Given the description of an element on the screen output the (x, y) to click on. 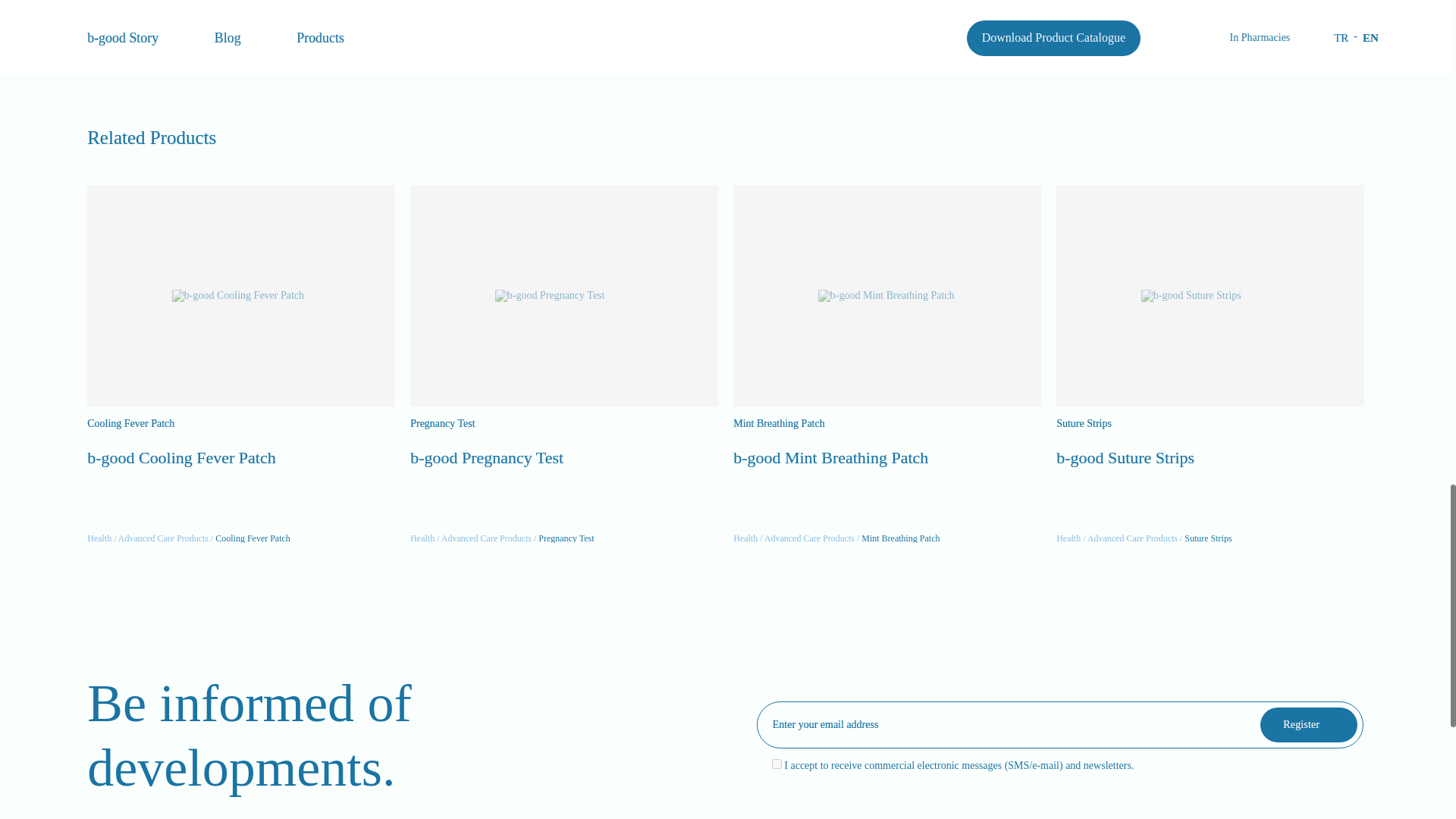
on (776, 764)
b-good Cooling Fever Patch (241, 295)
b-good Pregnancy Test (564, 295)
